Given the description of an element on the screen output the (x, y) to click on. 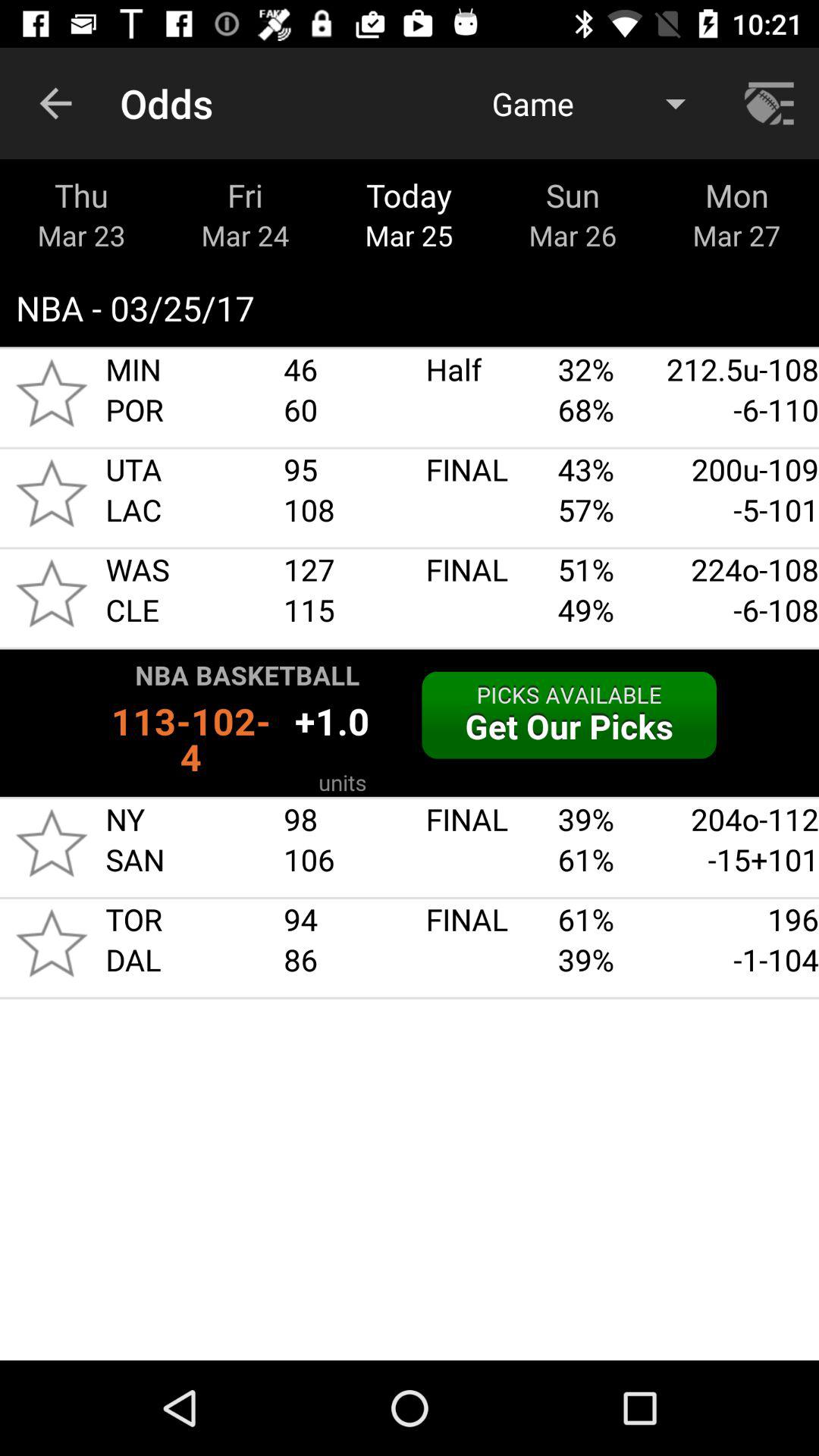
announcement (409, 722)
